Given the description of an element on the screen output the (x, y) to click on. 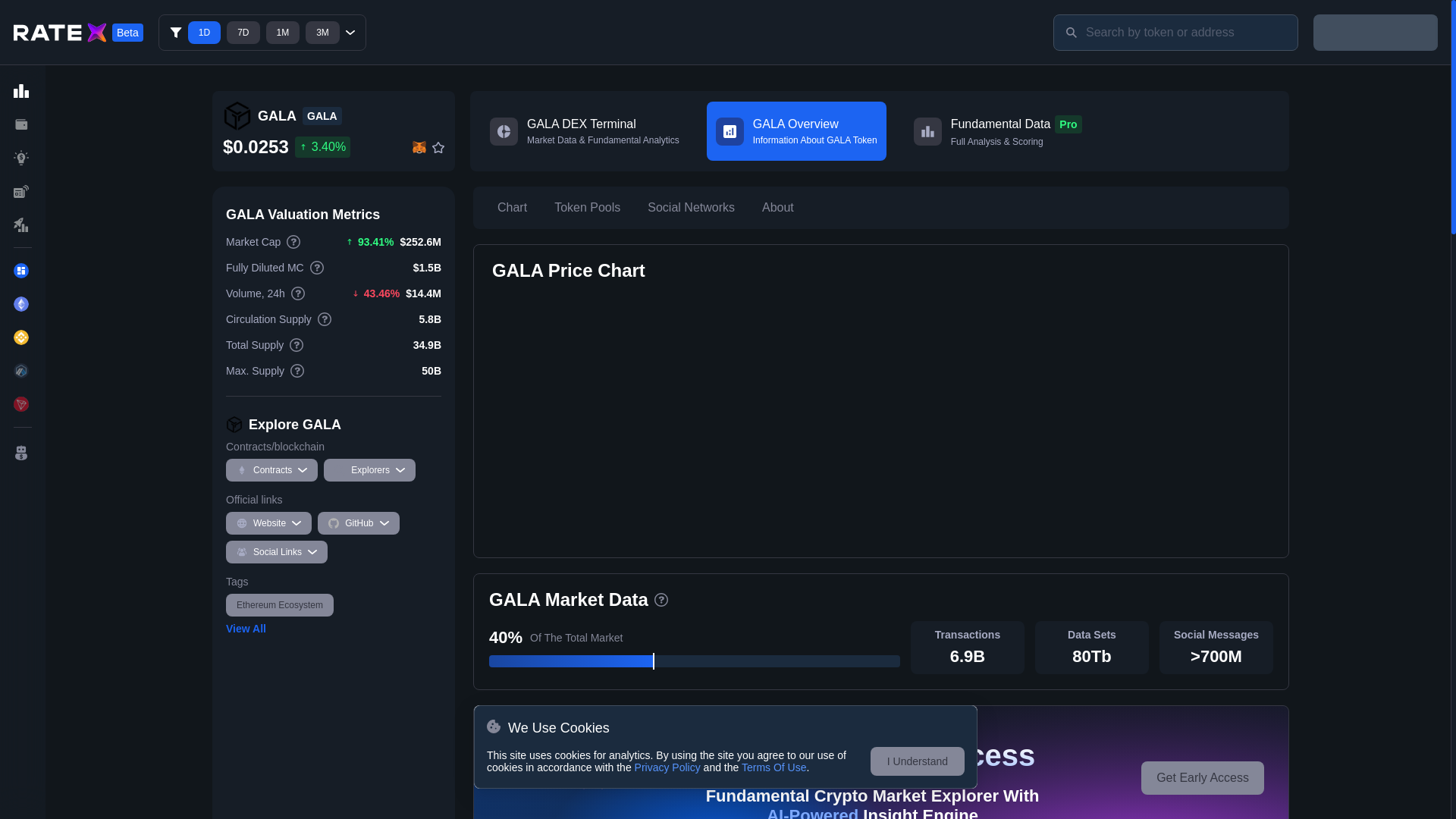
3M (322, 32)
Social Links (276, 551)
Ethereum Ecosystem (279, 604)
7D (243, 32)
1D (204, 32)
1M (281, 32)
Explorers (368, 469)
View All (796, 130)
GitHub (245, 628)
Contracts (357, 522)
Website (271, 469)
